Given the description of an element on the screen output the (x, y) to click on. 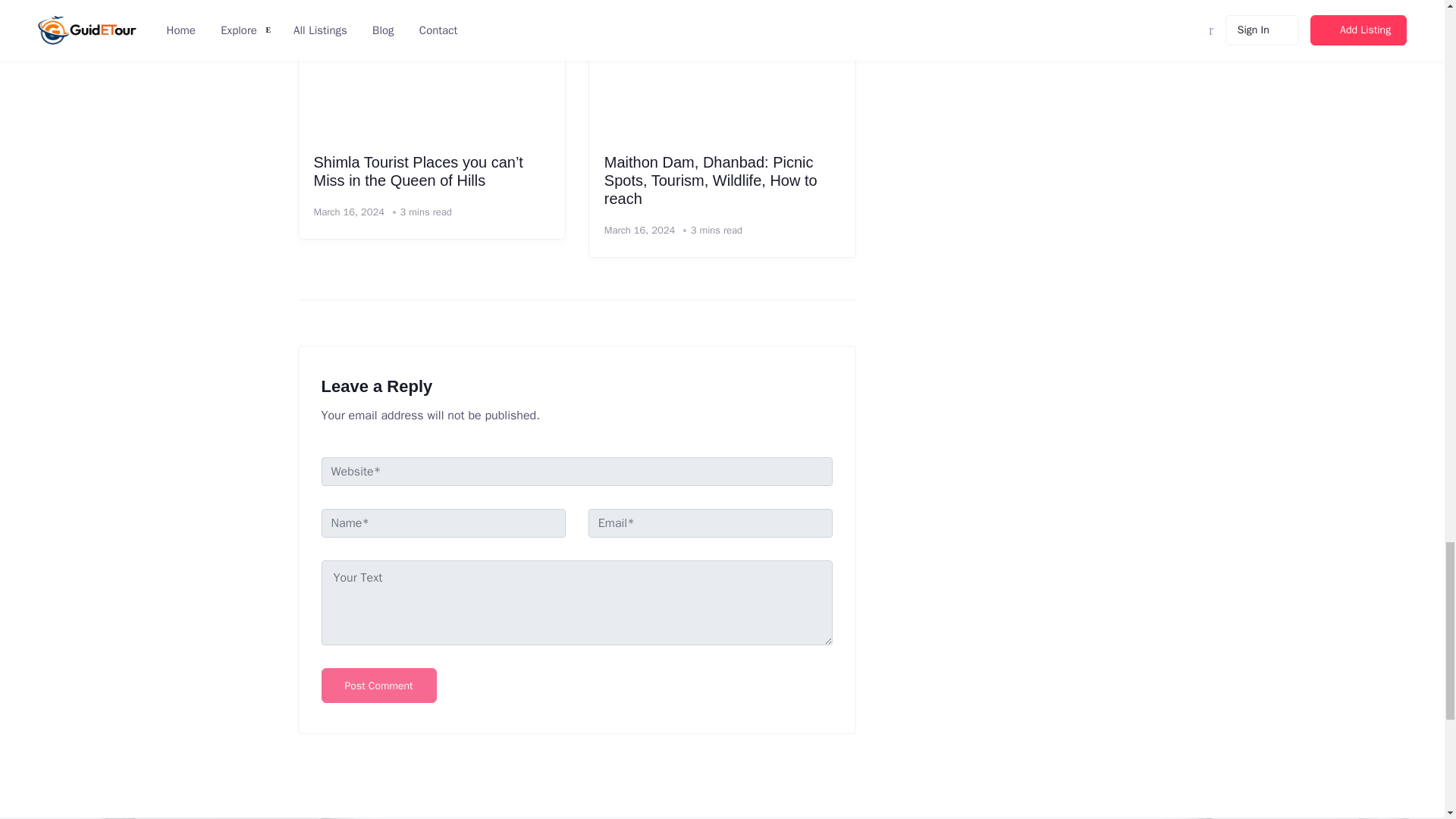
Post Comment (378, 685)
